Given the description of an element on the screen output the (x, y) to click on. 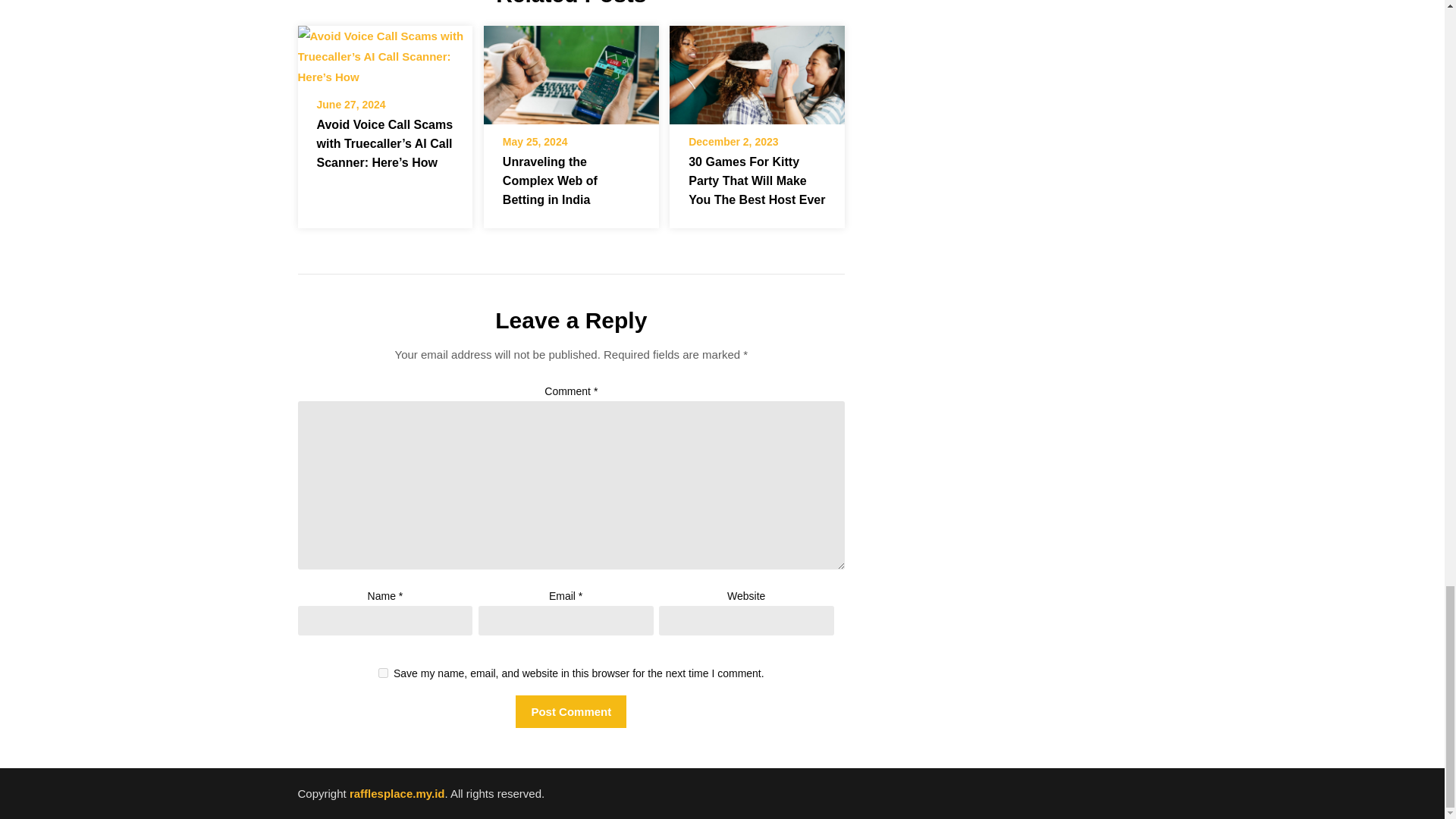
Post Comment (570, 711)
Unraveling the Complex Web of Betting in India (549, 180)
Post Comment (570, 711)
Unraveling the Complex Web of Betting in India (571, 69)
Unraveling the Complex Web of Betting in India (571, 74)
yes (383, 673)
